Given the description of an element on the screen output the (x, y) to click on. 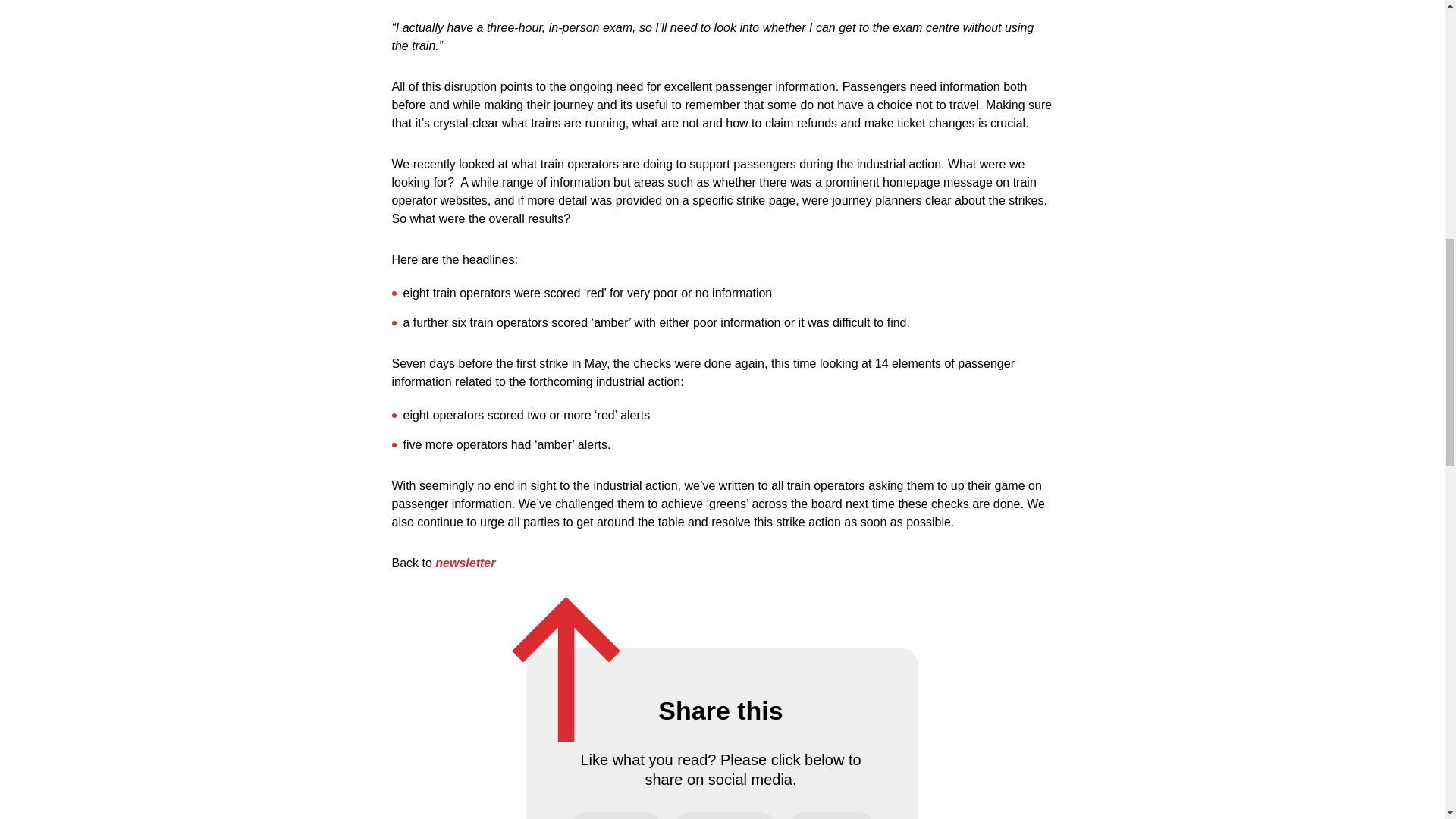
newsletter (464, 563)
Twitter (616, 815)
LinkedIn (724, 815)
Gmail (831, 815)
